Given the description of an element on the screen output the (x, y) to click on. 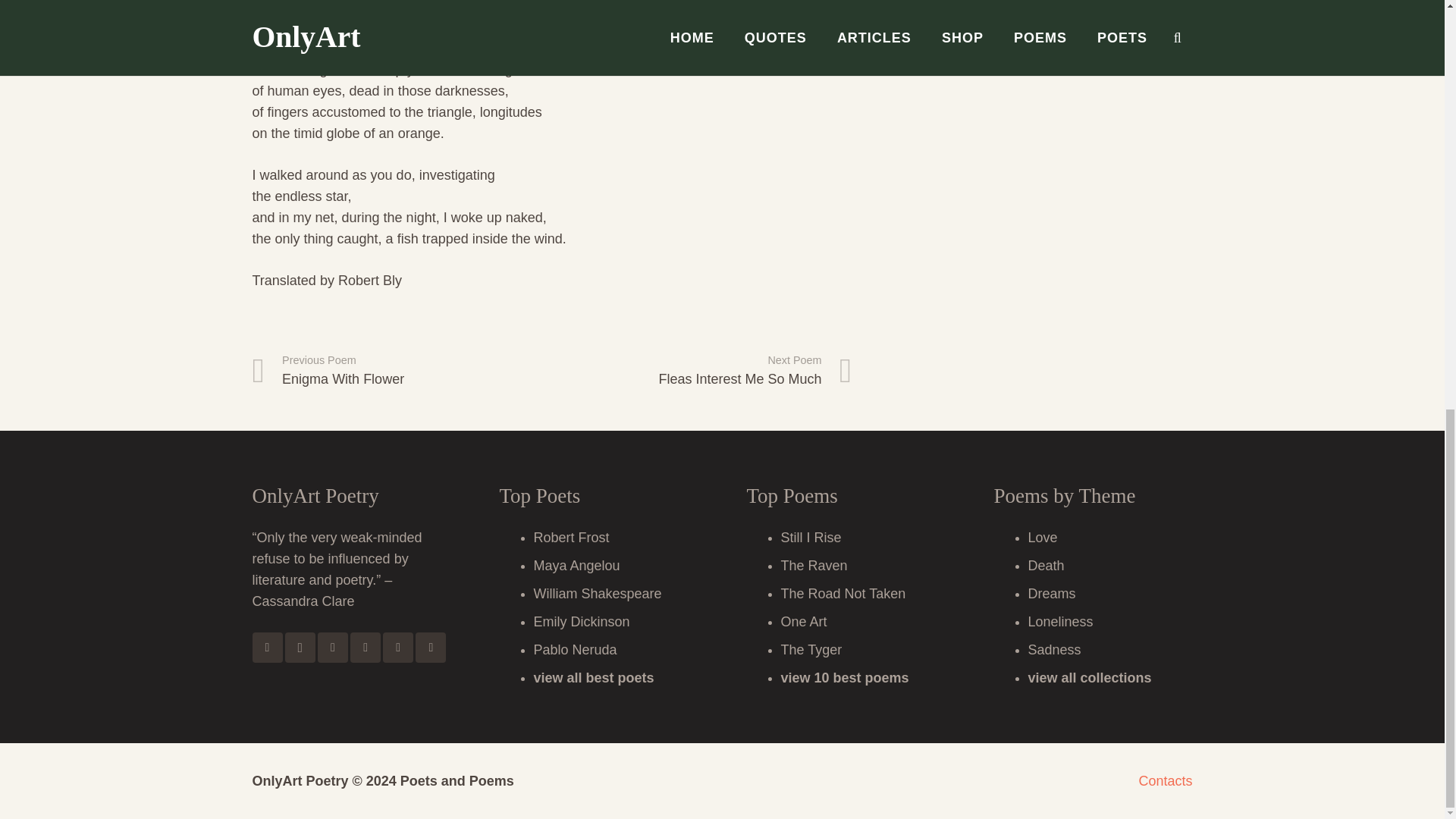
YouTube (429, 647)
Twitter (332, 647)
Pinterest (397, 647)
Facebook (266, 647)
Enigma With Flower (401, 370)
Back to top (1413, 39)
Fleas Interest Me So Much (701, 370)
Instagram (300, 647)
Reddit (365, 647)
